Given the description of an element on the screen output the (x, y) to click on. 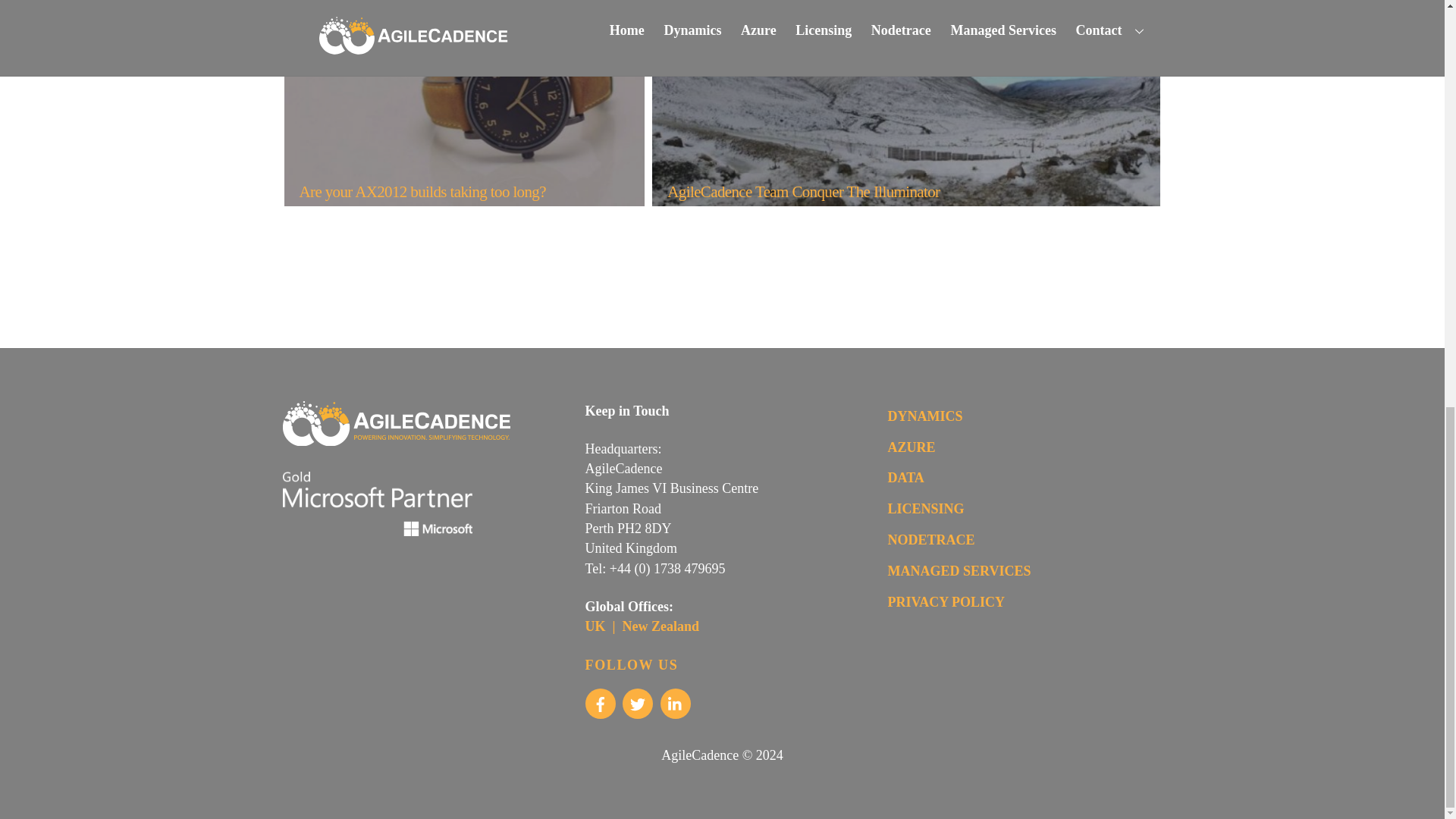
DATA (906, 477)
AZURE (912, 447)
DYNAMICS (925, 416)
AgileCadence Team Conquer The Illuminator (894, 103)
LICENSING (925, 508)
MANAGED SERVICES (959, 570)
Are your AX2012 builds taking too long? (452, 103)
NODETRACE (931, 539)
PRIVACY POLICY (947, 601)
